Given the description of an element on the screen output the (x, y) to click on. 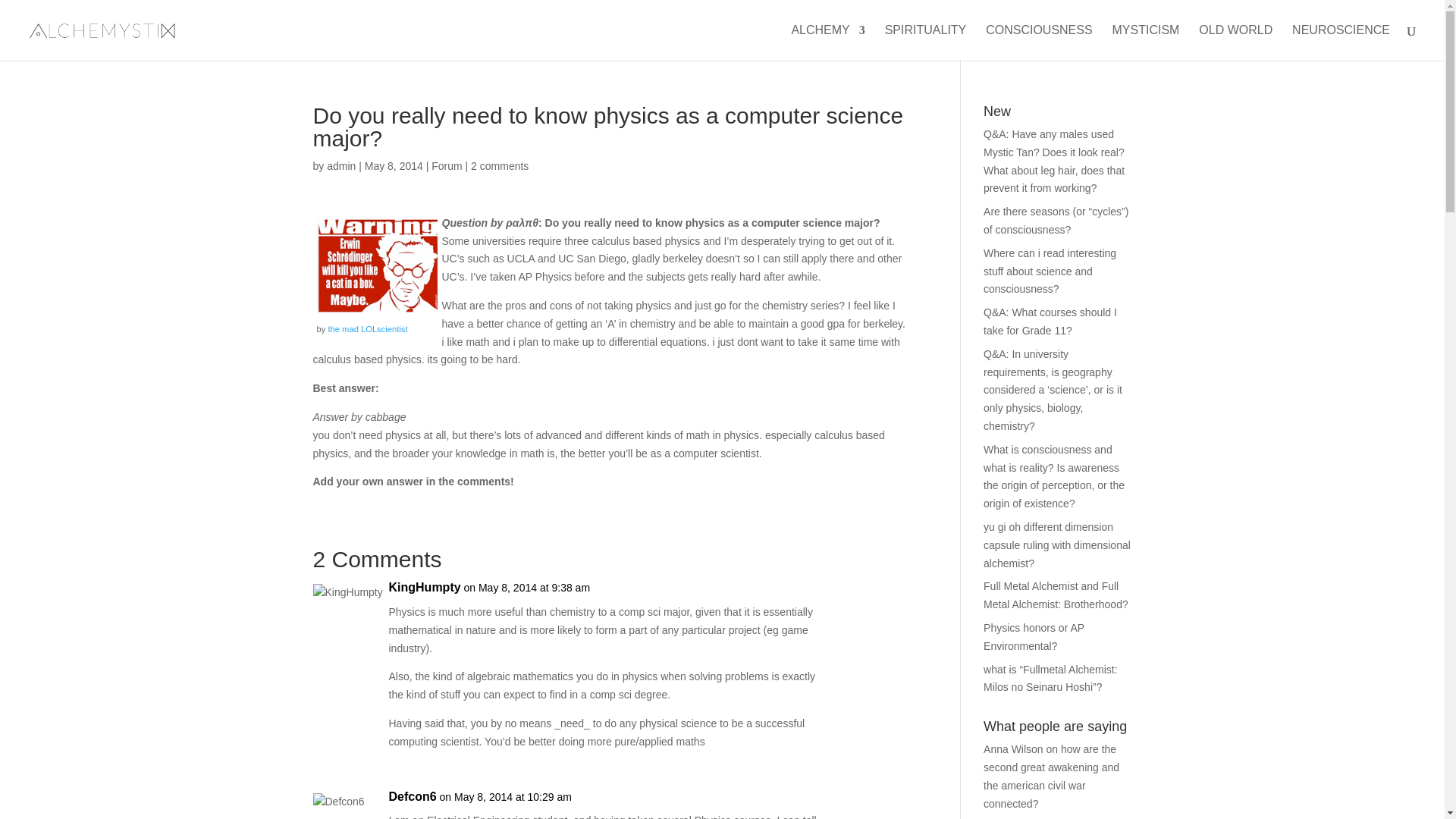
Forum (445, 165)
Full Metal Alchemist and Full Metal Alchemist: Brotherhood? (1056, 594)
NEUROSCIENCE (1341, 42)
CONSCIOUSNESS (1038, 42)
the mad LOLscientist (367, 328)
ALCHEMY (827, 42)
2 comments (499, 165)
